Given the description of an element on the screen output the (x, y) to click on. 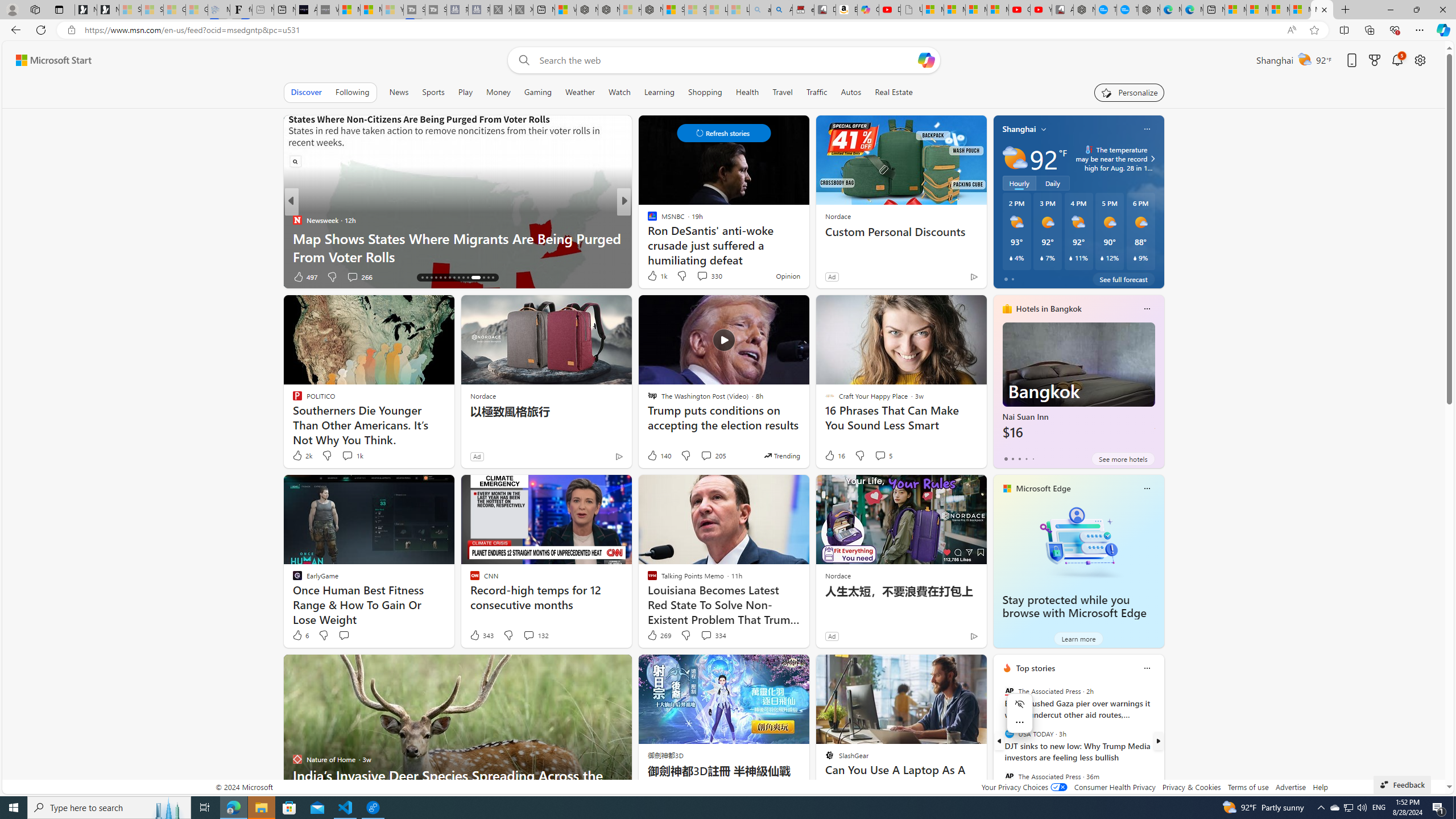
YouTube Kids - An App Created for Kids to Explore Content (1041, 9)
View comments 39 Comment (6, 276)
1k Like (656, 275)
6 Like (299, 634)
previous (998, 741)
Partly sunny (1014, 158)
Your Privacy Choices (1024, 786)
Nordace - Nordace Siena Is Not An Ordinary Backpack (652, 9)
Microsoft Edge (1043, 488)
AutomationID: tab-20 (440, 277)
8 Like (651, 276)
Comments turned off for this story (694, 276)
